Given the description of an element on the screen output the (x, y) to click on. 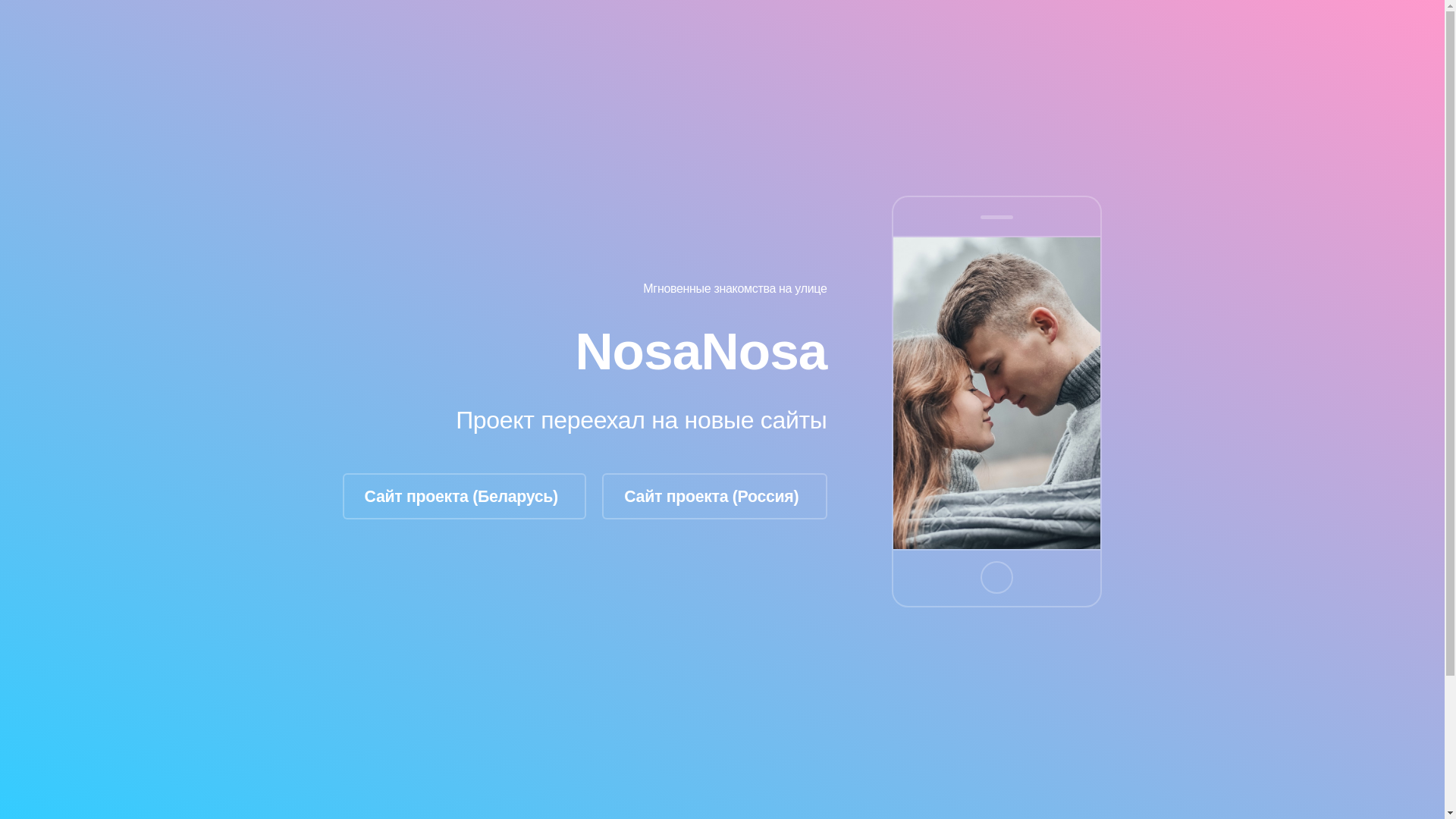
NosaNosa Element type: text (700, 350)
